Given the description of an element on the screen output the (x, y) to click on. 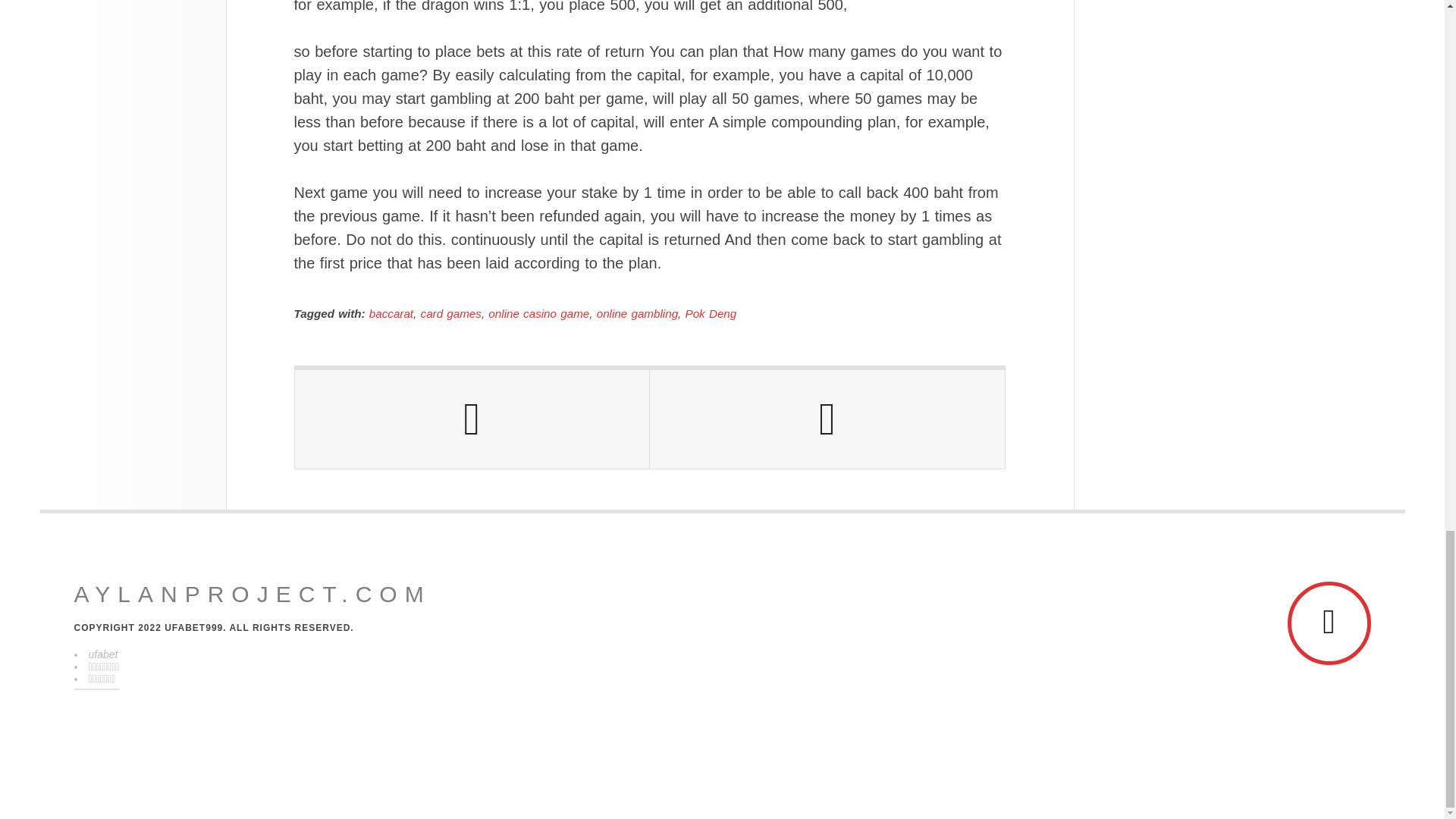
card games (450, 313)
online casino game (538, 313)
Pok Deng (710, 313)
Previous Post (471, 419)
online gambling (637, 313)
aylanproject.com (252, 594)
Next Post (826, 419)
baccarat (391, 313)
